Given the description of an element on the screen output the (x, y) to click on. 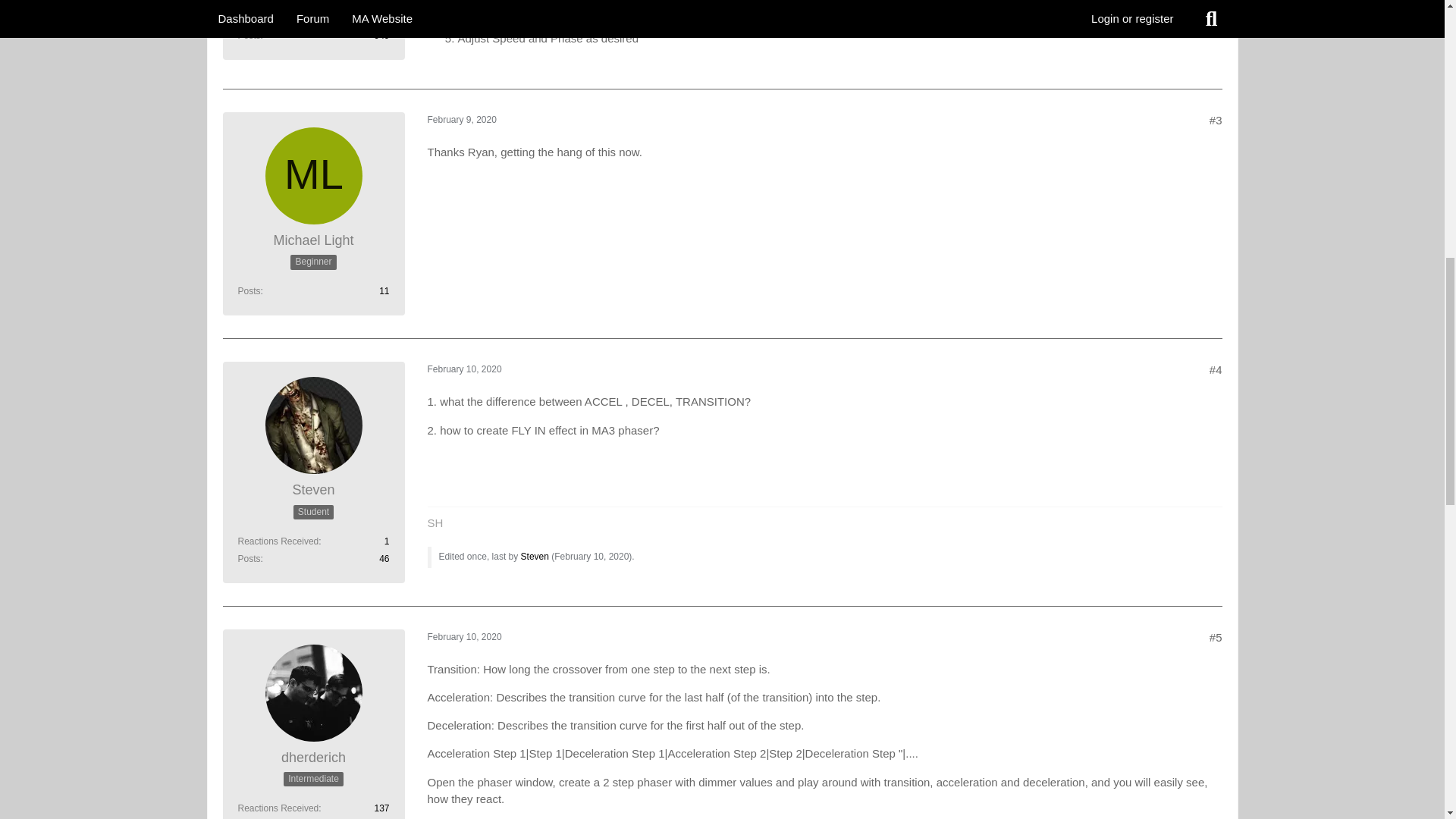
Posts (249, 290)
Steven (313, 489)
February 9, 2020February 9, 2020 at 3:04 AM (462, 119)
Reactions Received (278, 541)
Posts (249, 558)
Michael Light (313, 240)
Reactions Received (278, 18)
Posts (249, 35)
